Given the description of an element on the screen output the (x, y) to click on. 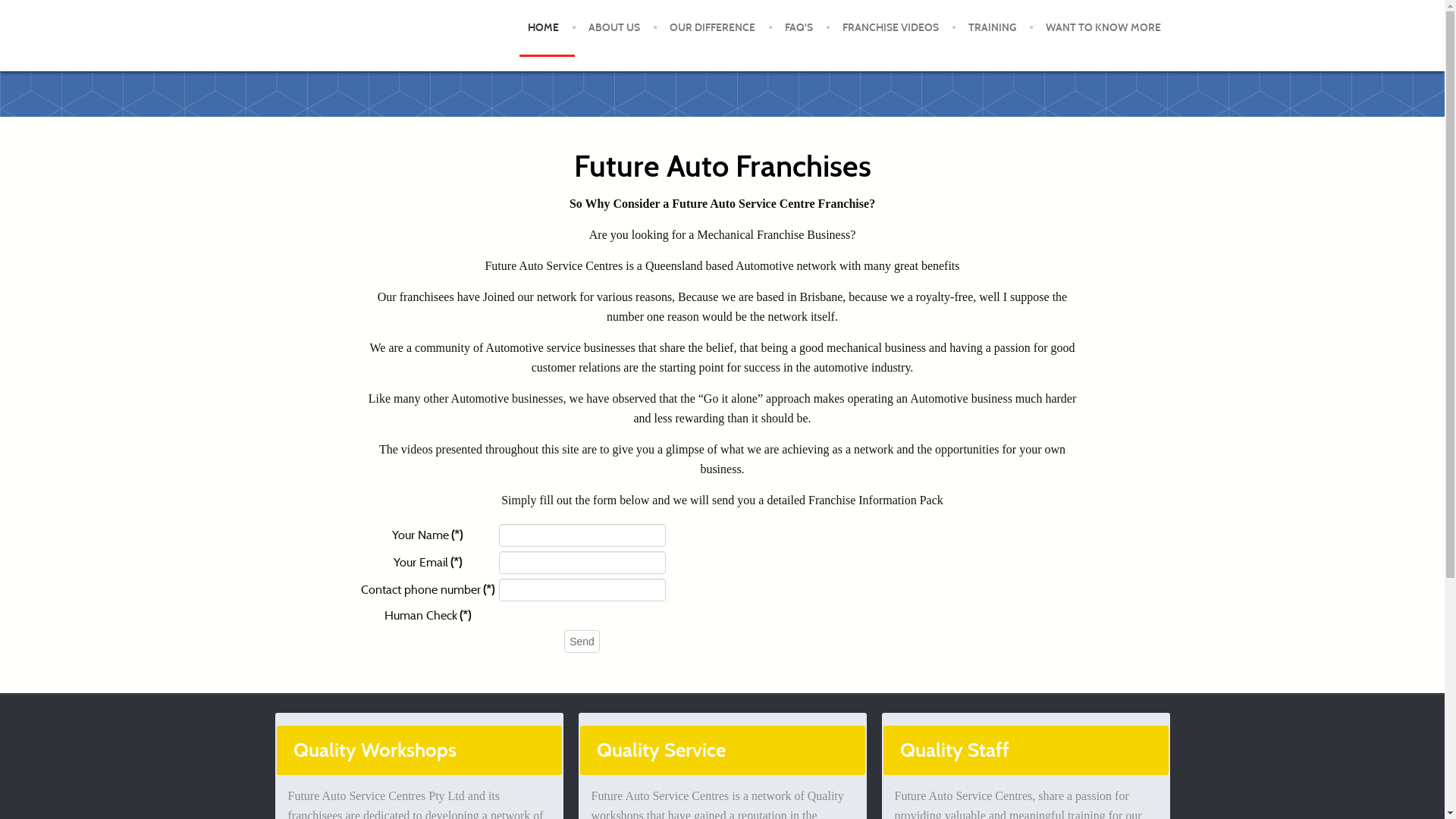
OUR DIFFERENCE Element type: text (711, 27)
Send Element type: text (581, 641)
FRANCHISE VIDEOS Element type: text (889, 27)
FAQ'S Element type: text (797, 27)
TRAINING Element type: text (991, 27)
ABOUT US Element type: text (614, 27)
HOME Element type: text (543, 27)
WANT TO KNOW MORE Element type: text (1102, 27)
